Given the description of an element on the screen output the (x, y) to click on. 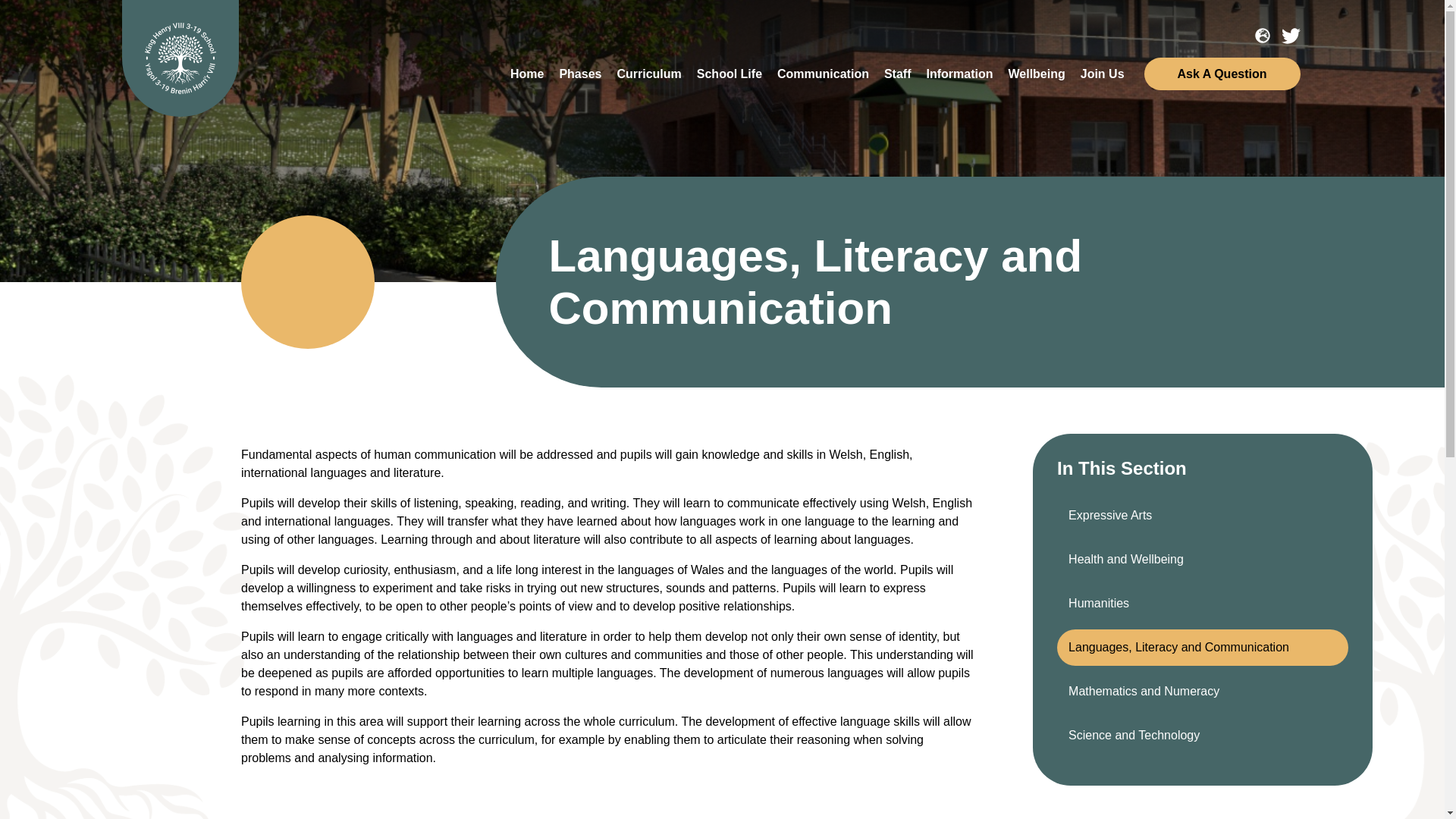
Phases (580, 73)
Curriculum (648, 73)
Home (527, 73)
School Life (729, 73)
